Given the description of an element on the screen output the (x, y) to click on. 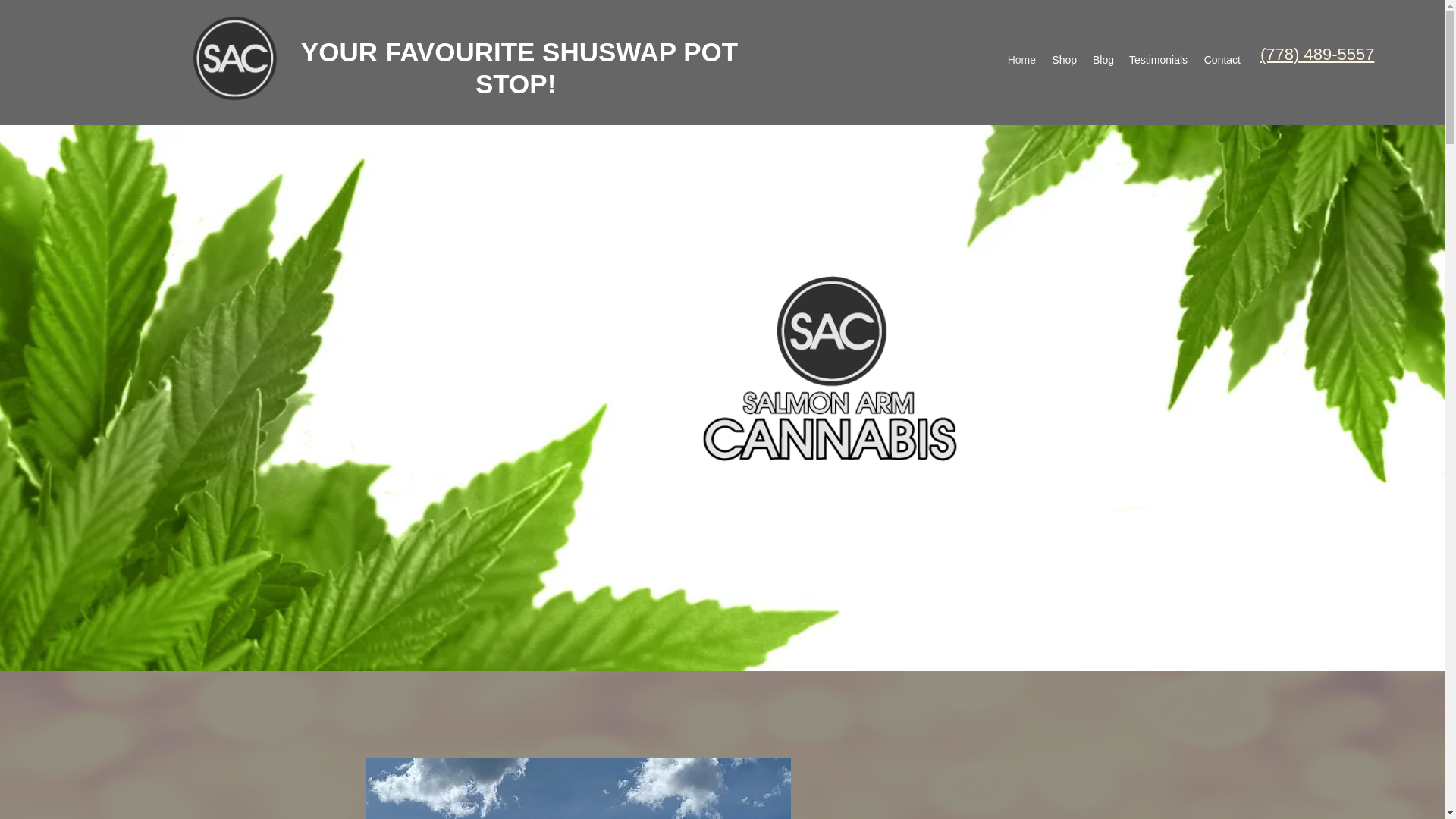
Contact (1221, 59)
Shop (1063, 59)
Blog (1102, 59)
Home (1020, 59)
Testimonials (1158, 59)
